Given the description of an element on the screen output the (x, y) to click on. 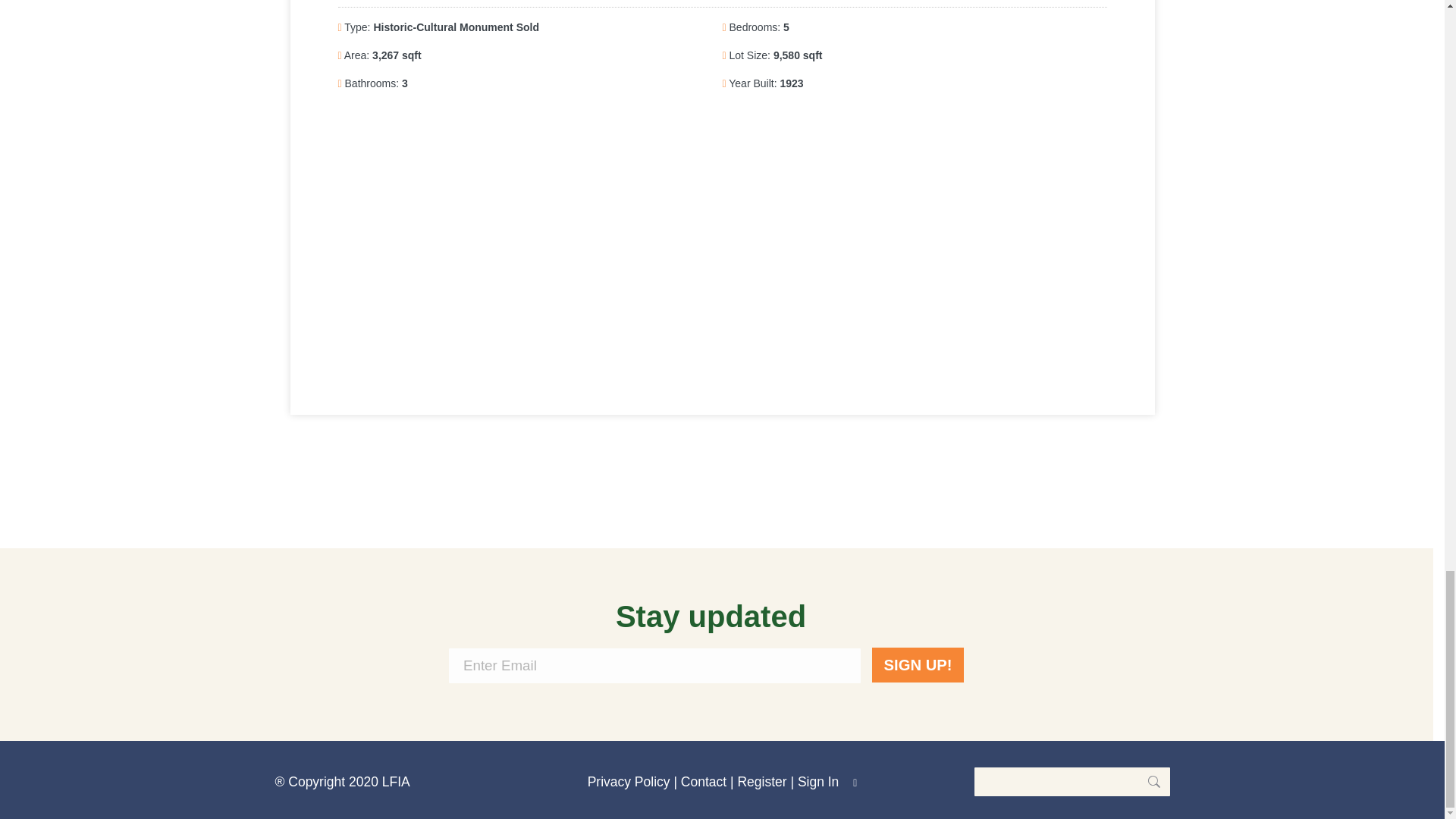
SIGN UP! (917, 664)
Go! (1146, 781)
Go! (1146, 781)
